Given the description of an element on the screen output the (x, y) to click on. 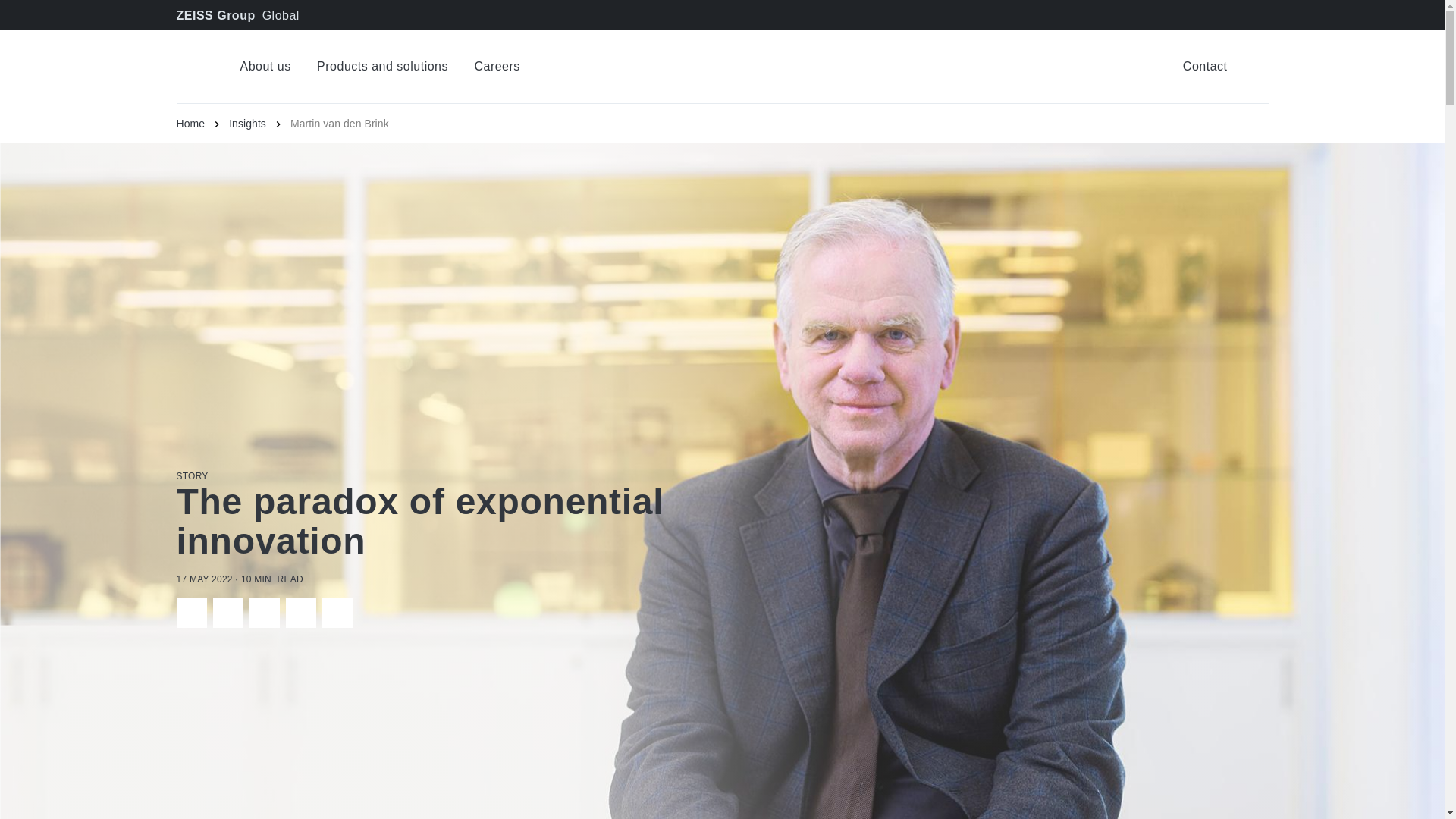
Contact (1204, 66)
About us (264, 66)
Insights (258, 123)
Home (202, 123)
Careers (496, 66)
Products and solutions (382, 66)
Contact (1204, 66)
